Given the description of an element on the screen output the (x, y) to click on. 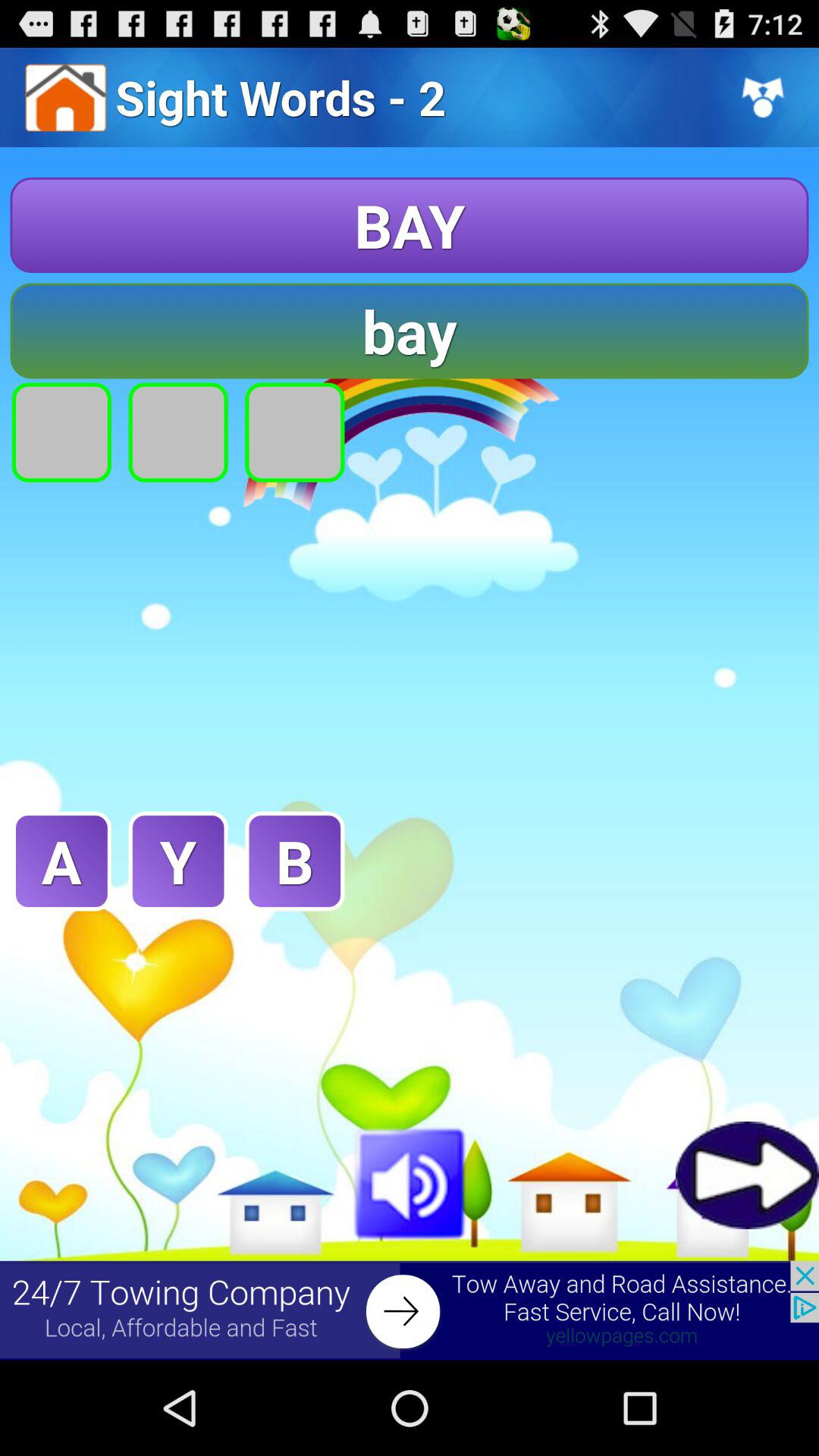
view the advertisement (409, 1310)
